Given the description of an element on the screen output the (x, y) to click on. 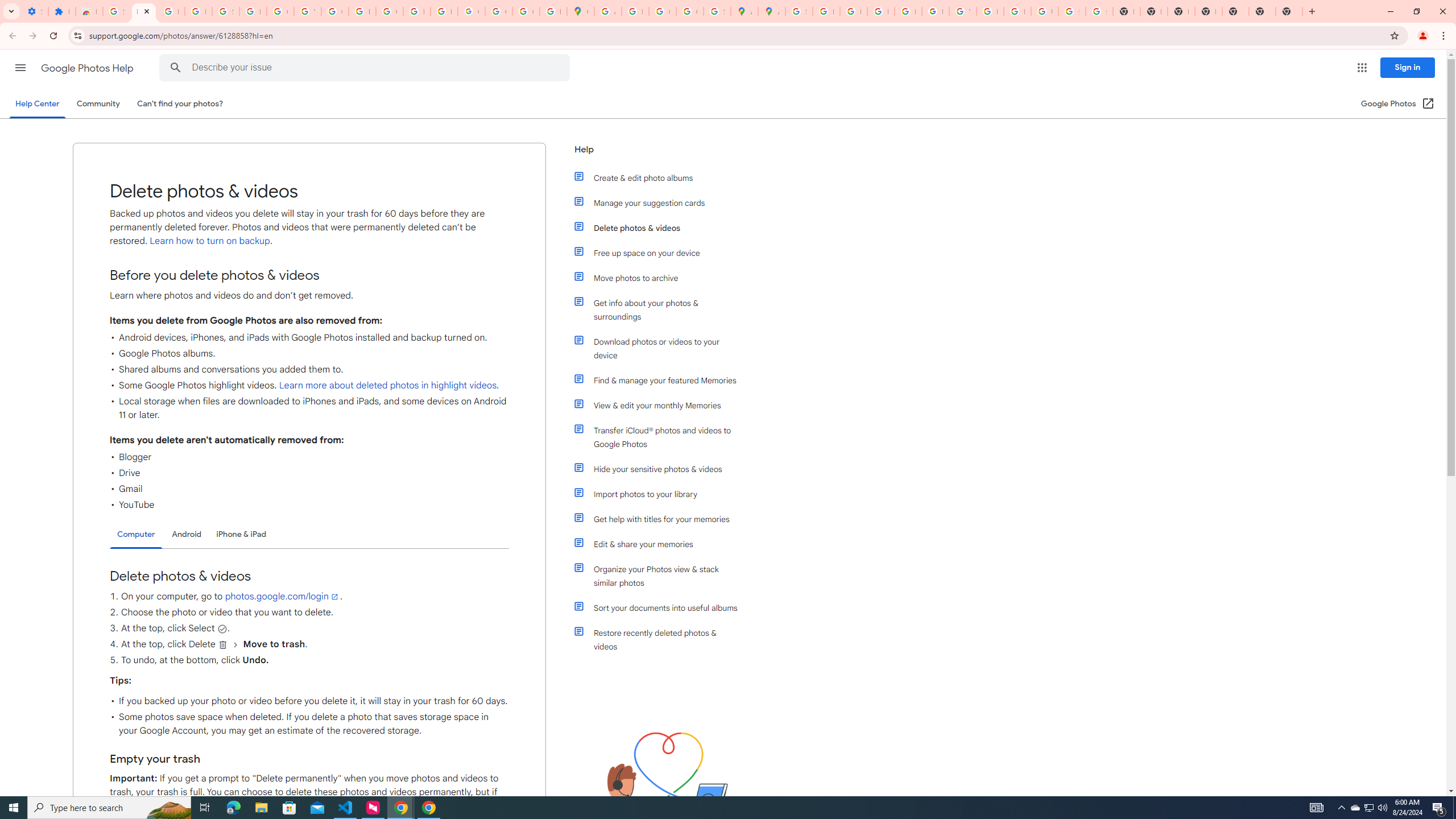
Get info about your photos & surroundings (661, 309)
 Learn how to turn on backup (208, 240)
Reviews: Helix Fruit Jump Arcade Game (88, 11)
Google Maps (580, 11)
and then (235, 644)
Get help with titles for your memories (661, 518)
Organize your Photos view & stack similar photos (661, 575)
YouTube (962, 11)
